Given the description of an element on the screen output the (x, y) to click on. 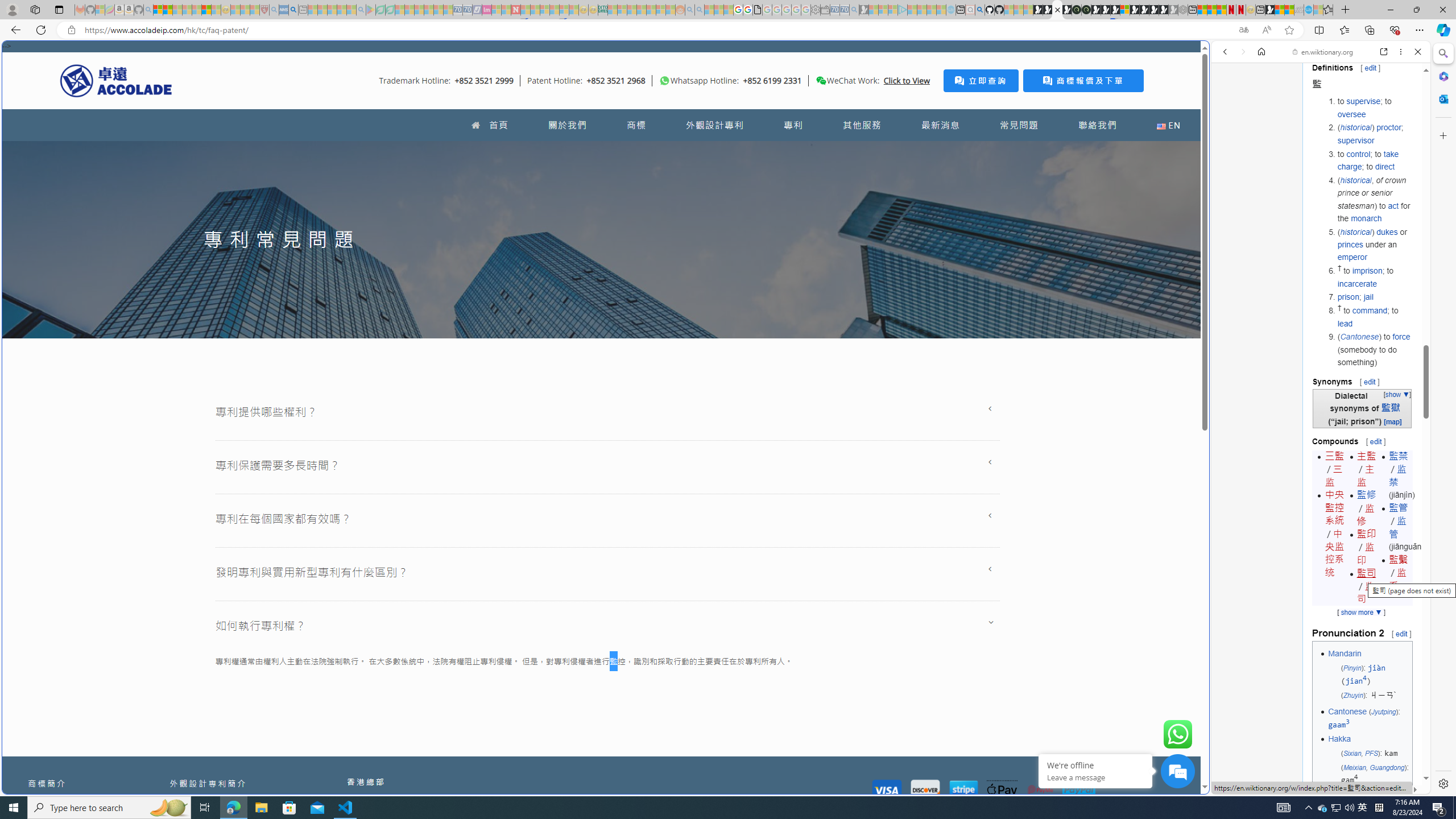
Preferences (1403, 129)
Side bar (1443, 418)
Frequently visited (965, 151)
gaam3 (1338, 724)
To get missing image descriptions, open the context menu. (664, 80)
Robert H. Shmerling, MD - Harvard Health - Sleeping (263, 9)
